Given the description of an element on the screen output the (x, y) to click on. 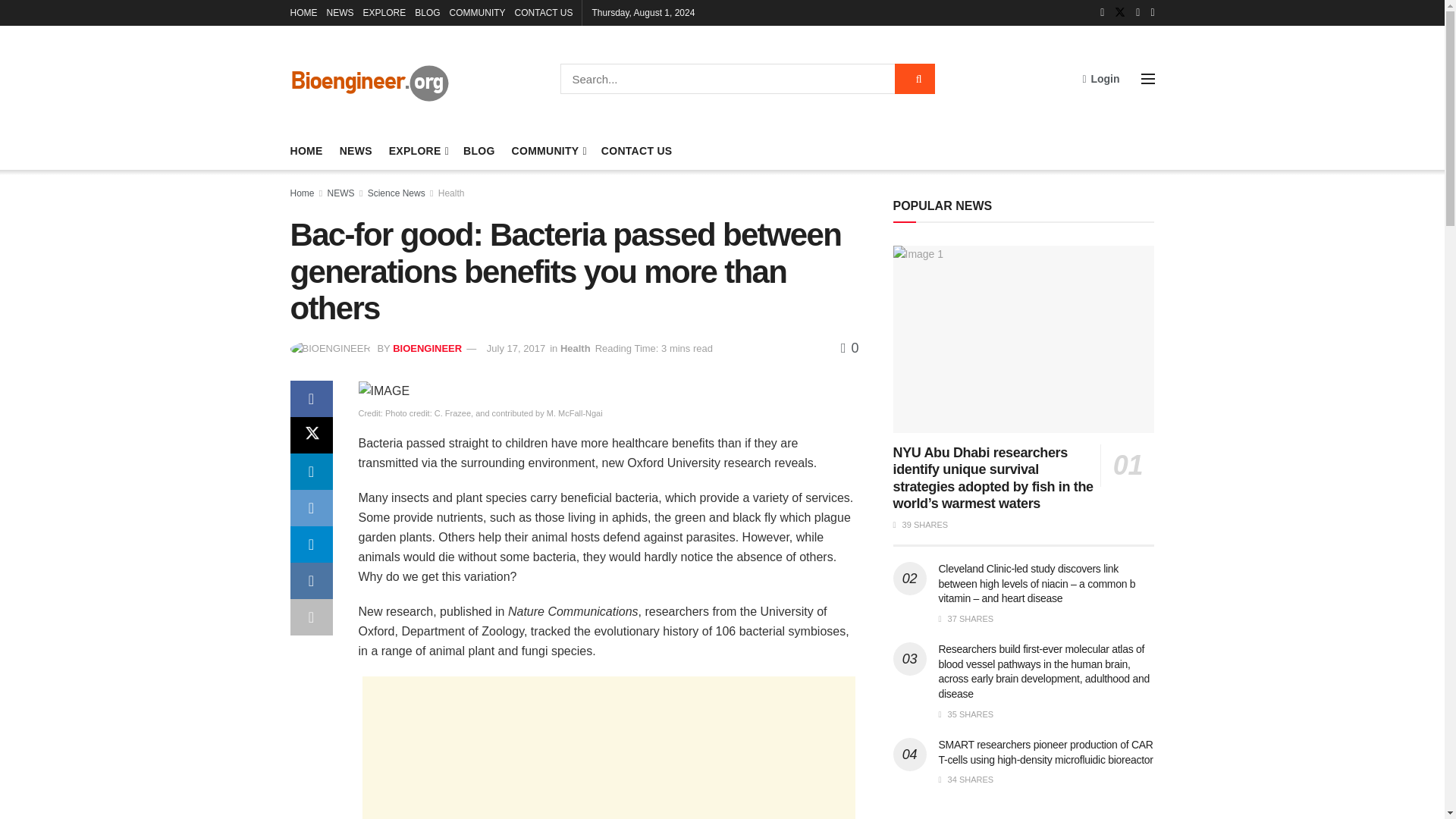
HOME (303, 12)
EXPLORE (384, 12)
EXPLORE (417, 150)
HOME (305, 150)
NEWS (339, 12)
NEWS (355, 150)
BLOG (426, 12)
CONTACT US (544, 12)
COMMUNITY (477, 12)
Login (1100, 78)
